Given the description of an element on the screen output the (x, y) to click on. 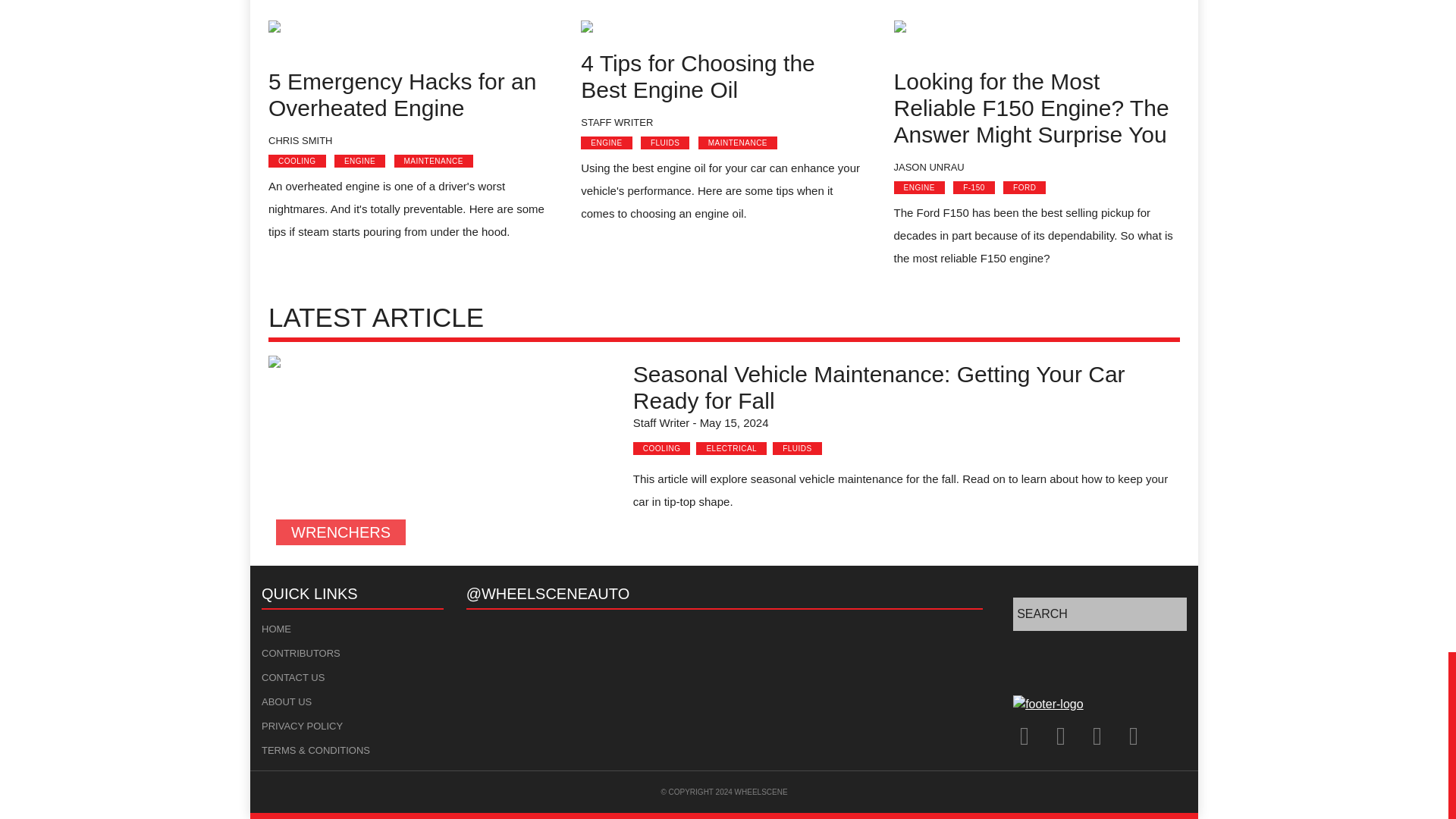
Overheated Engine (410, 38)
Engine oil (676, 29)
Most Reliable F150 Engine: 2.7L EcoBoost V6 (1036, 38)
seasonal vehicle maintenance (440, 454)
